Given the description of an element on the screen output the (x, y) to click on. 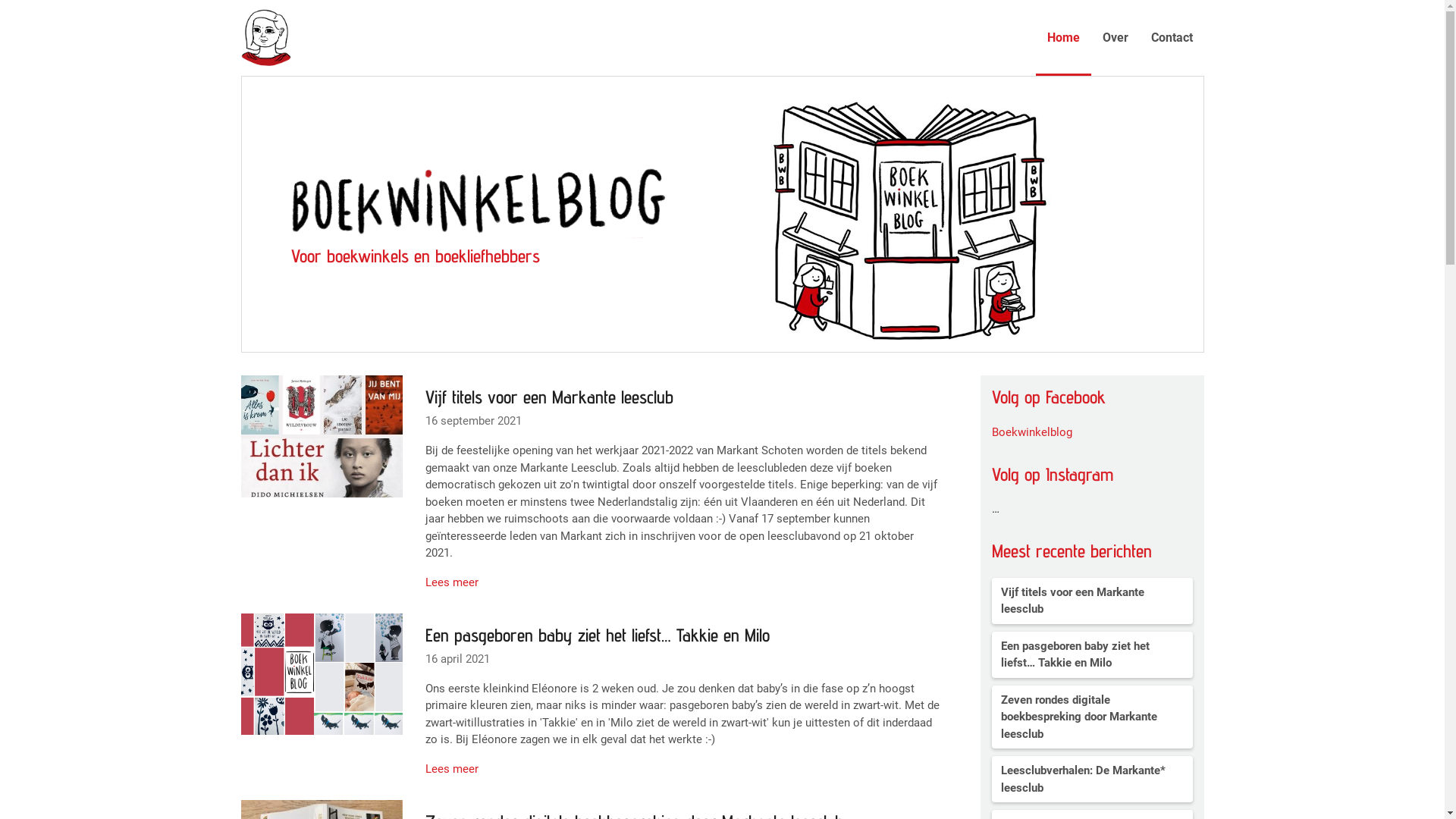
Boekwinkelblog Element type: text (1031, 432)
Lees meer Element type: text (451, 582)
Vijf titels voor een Markante leesclub Element type: text (683, 406)
Leesclubverhalen: De Markante* leesclub Element type: text (1091, 779)
Over Element type: text (1114, 37)
Lees meer Element type: text (451, 768)
Vijf titels voor een Markante leesclub Element type: text (1091, 600)
Woordlogo_zonder_streep(1) Element type: hover (482, 200)
bb-home-hero Element type: hover (721, 213)
Skip to content Element type: text (0, 0)
Home Element type: text (1063, 37)
Wat ziet een pasgeboren baby300x400 website Takkie en Milo Element type: hover (322, 673)
Zeven rondes digitale boekbespreking door Markante leesclub Element type: text (1091, 717)
Contact Element type: text (1171, 37)
Versie 2 van Markante Leesclub Schoten 400-300-jpg Element type: hover (322, 435)
